Given the description of an element on the screen output the (x, y) to click on. 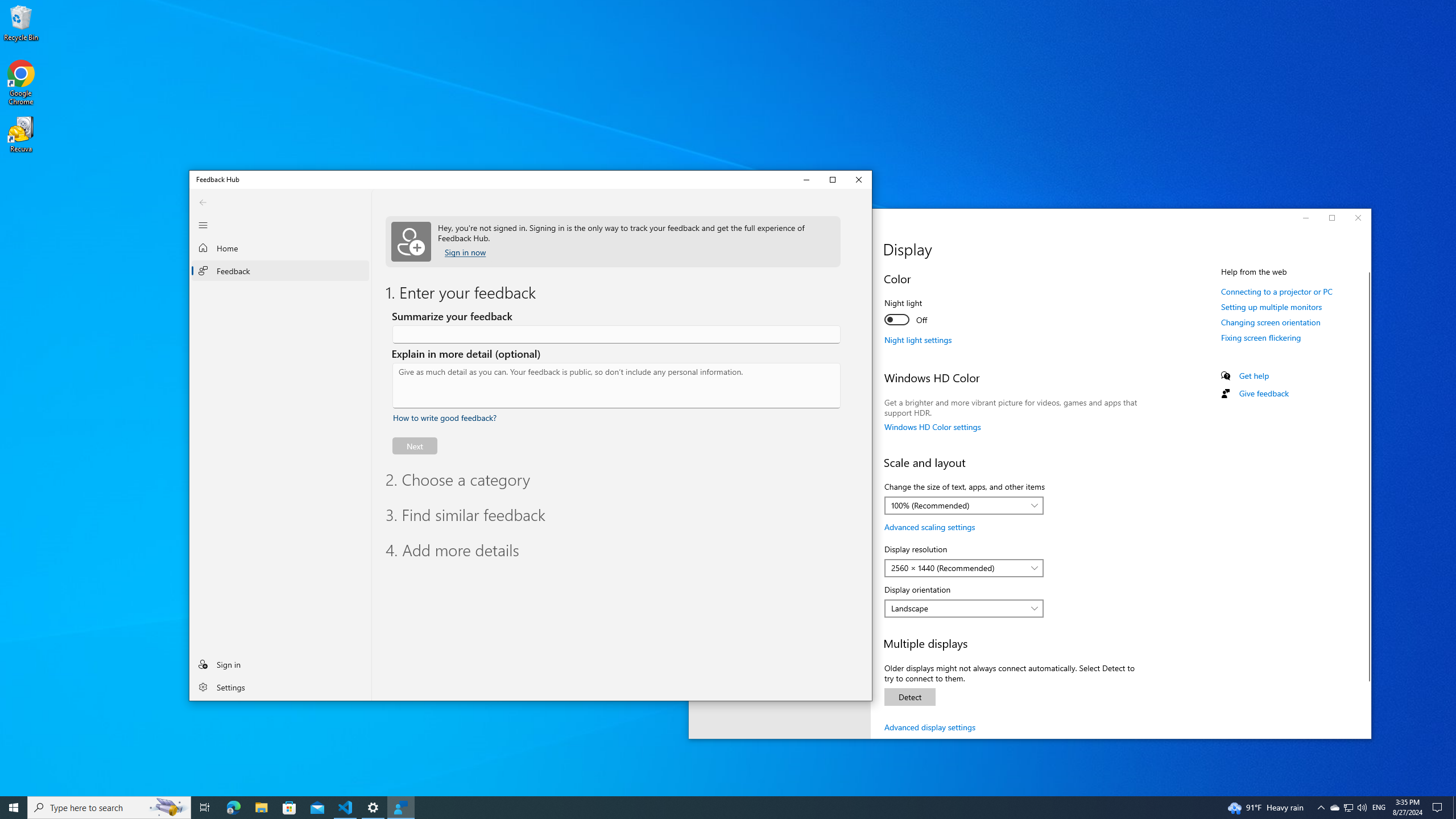
Settings (280, 686)
Back (203, 202)
Vertical Small Increase (867, 696)
Microsoft Store (1333, 807)
How to write good feedback? Expand or collapse for tips. (289, 807)
Running applications (445, 417)
Vertical Small Decrease (706, 807)
Home (867, 220)
Sign in now (280, 247)
Maximize Feedback Hub (465, 252)
Feedback Hub - 1 running window (832, 179)
File Explorer (400, 807)
Summarize your feedback (261, 807)
